Given the description of an element on the screen output the (x, y) to click on. 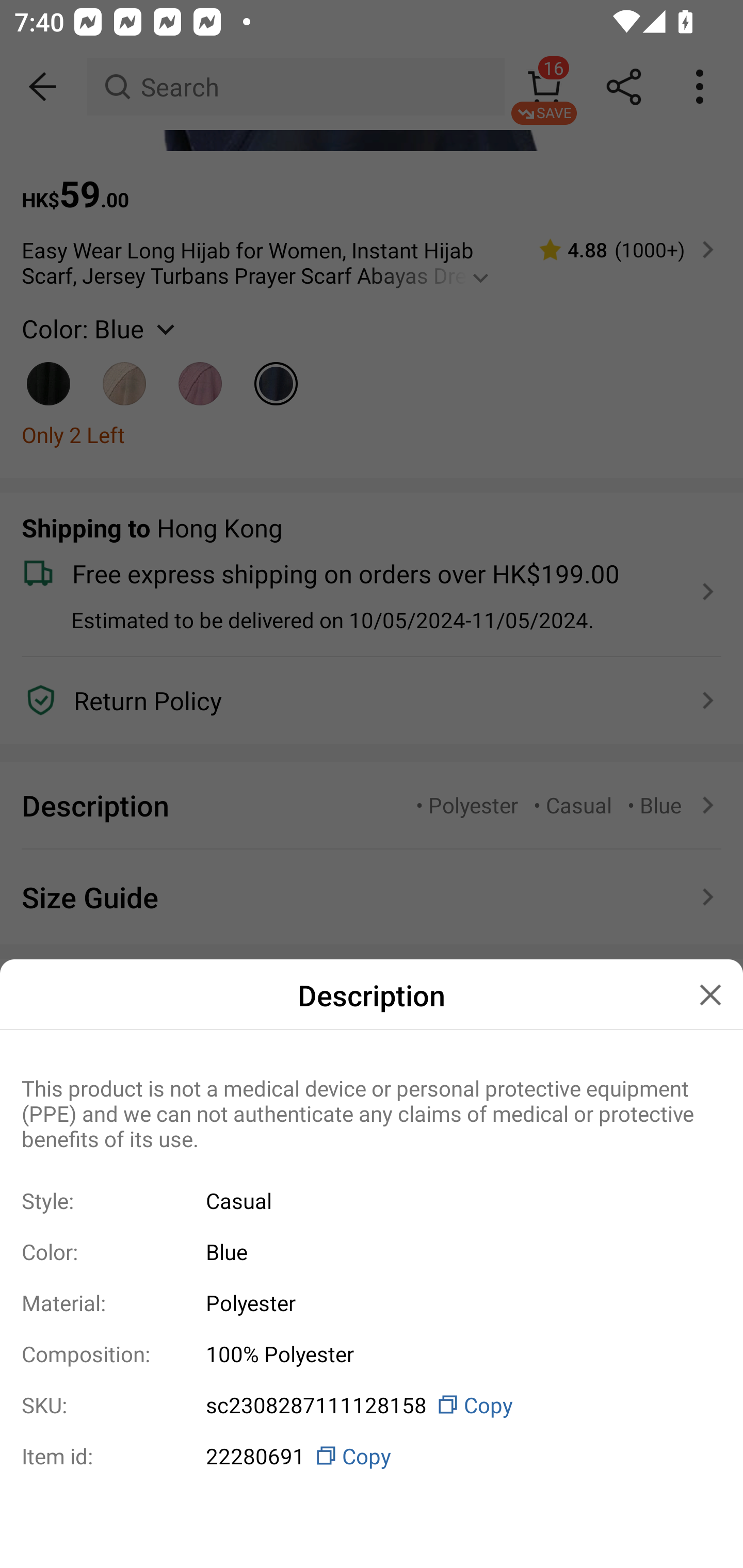
Close (710, 994)
Style: Casual (371, 1200)
Casual (455, 1200)
Color: Blue (371, 1251)
Blue (455, 1251)
Material: Polyester (371, 1302)
Polyester (455, 1302)
Composition: 100% Polyester (371, 1353)
100% Polyester (455, 1353)
SKU: sc2308287111128158    Copy (371, 1404)
sc2308287111128158    Copy (455, 1404)
Item id: 22280691    Copy (371, 1455)
22280691    Copy (455, 1455)
